Given the description of an element on the screen output the (x, y) to click on. 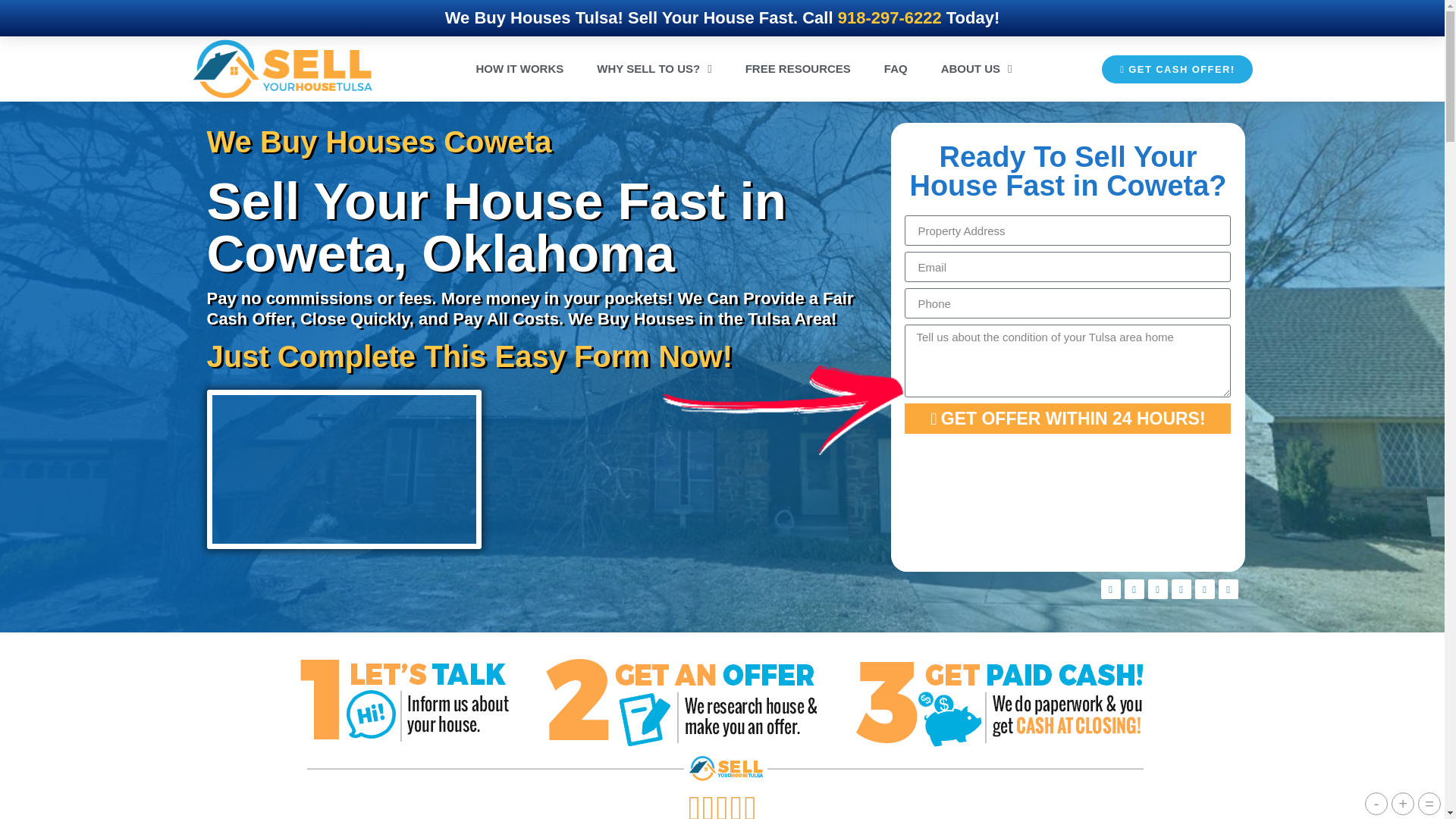
Decrease text size (1376, 803)
FAQ (895, 68)
HOW IT WORKS (518, 68)
FREE RESOURCES (798, 68)
WHY SELL TO US? (653, 68)
ABOUT US (976, 68)
Reset text size (1429, 803)
Increase text size (1402, 803)
918-297-6222 (890, 17)
